Given the description of an element on the screen output the (x, y) to click on. 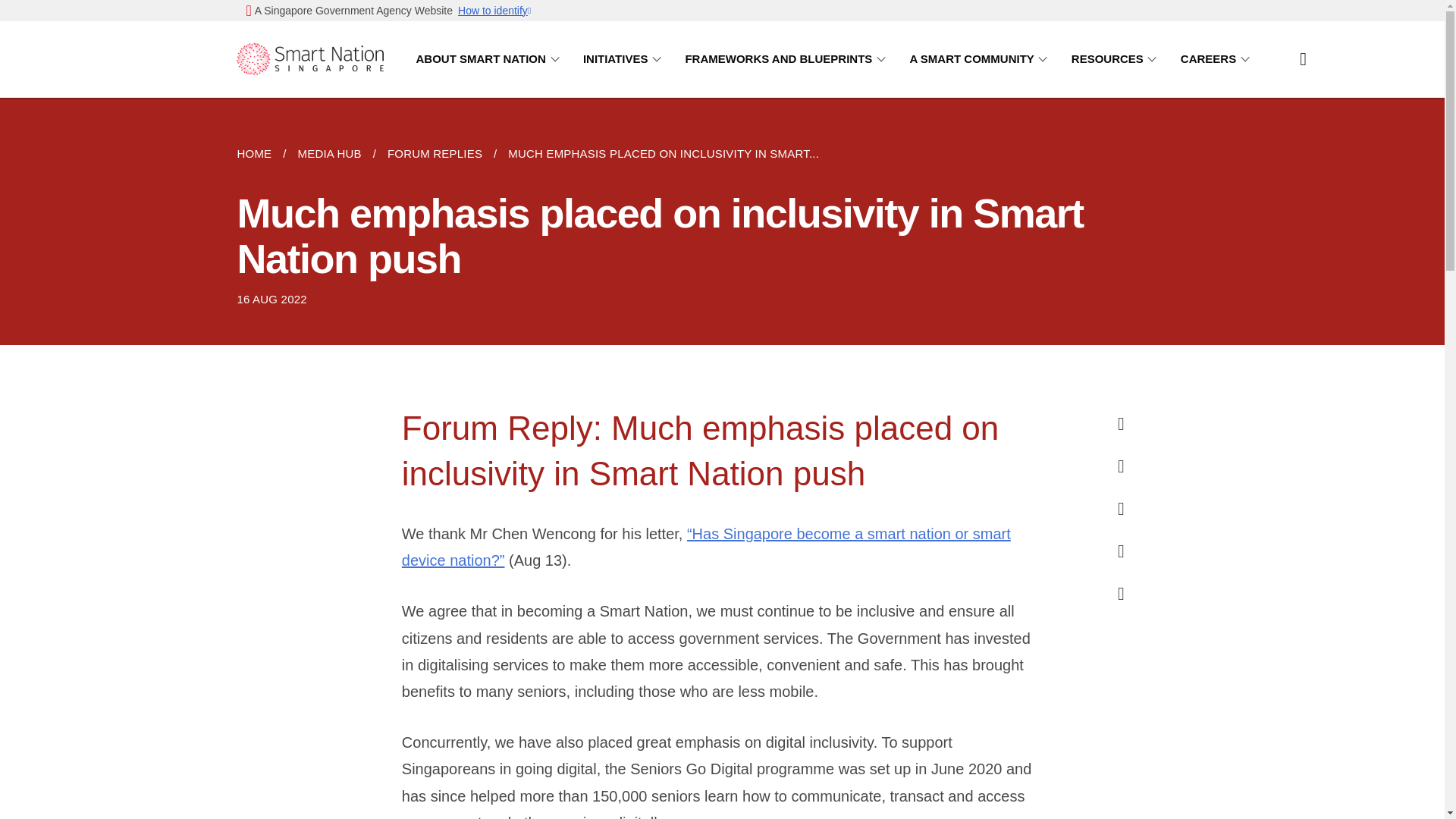
A SMART COMMUNITY (980, 59)
MEDIA HUB (328, 153)
ABOUT SMART NATION (489, 59)
HOME (258, 153)
MUCH EMPHASIS PLACED ON INCLUSIVITY IN SMART... (662, 153)
CAREERS (1217, 59)
FRAMEWORKS AND BLUEPRINTS (787, 59)
FORUM REPLIES (434, 153)
INITIATIVES (624, 59)
RESOURCES (1116, 59)
